Given the description of an element on the screen output the (x, y) to click on. 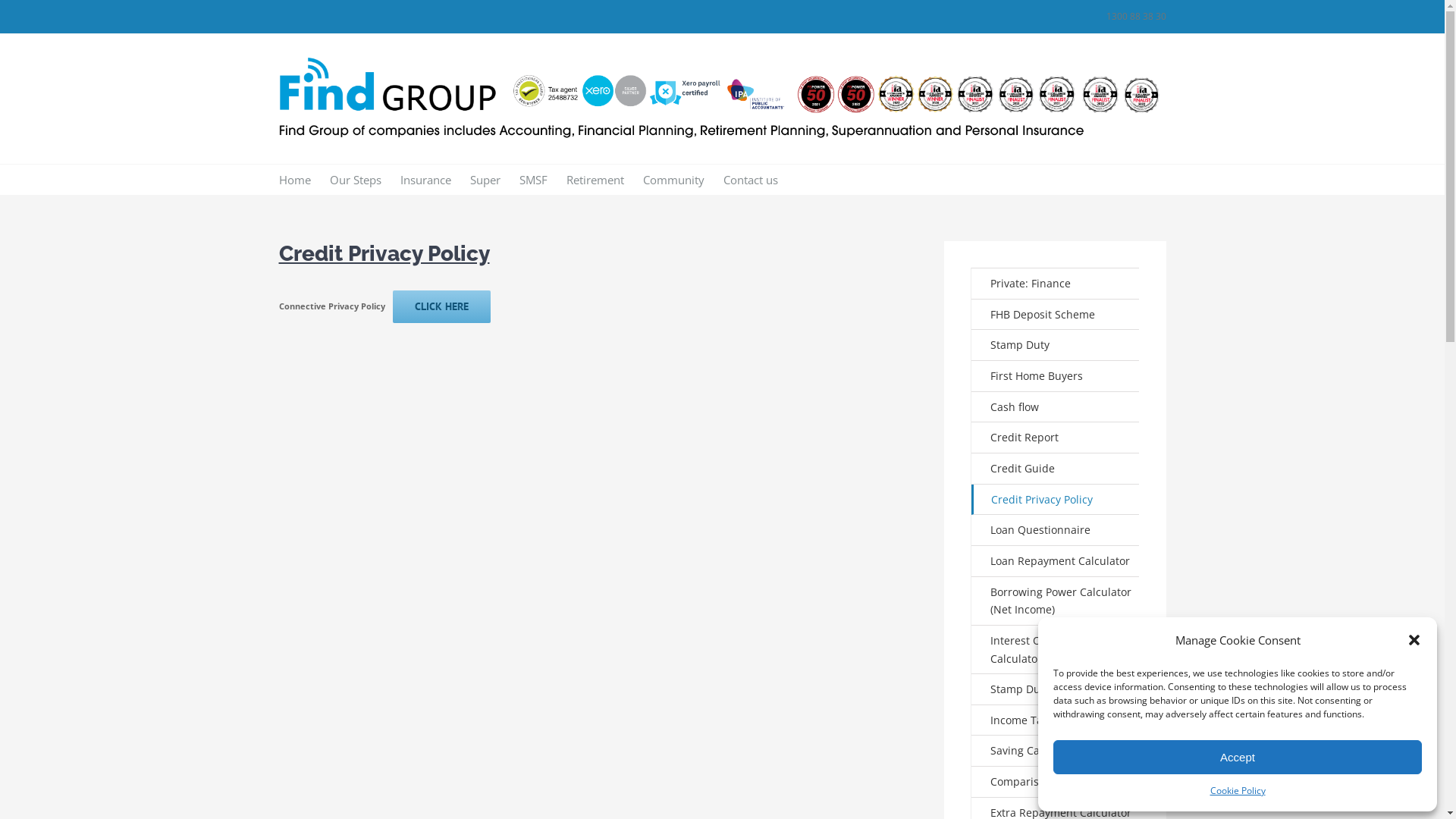
Private: Finance Element type: text (1055, 283)
Retirement Element type: text (594, 179)
Cookie Policy Element type: text (1237, 790)
First Home Buyers Element type: text (1055, 376)
Stamp Duty Element type: text (1055, 344)
Super Element type: text (485, 179)
SMSF Element type: text (532, 179)
Credit Report Element type: text (1055, 437)
Our Steps Element type: text (354, 179)
Income Tax Calculator Element type: text (1055, 720)
Loan Questionnaire Element type: text (1055, 530)
Loan Repayment Calculator Element type: text (1055, 561)
CLICK HERE Element type: text (441, 306)
Home Element type: text (294, 179)
Contact us Element type: text (750, 179)
Stamp Duty Calculator Element type: text (1055, 689)
Saving Calculator Element type: text (1055, 750)
Borrowing Power Calculator (Net Income) Element type: text (1055, 601)
Insurance Element type: text (425, 179)
Accept Element type: text (1237, 757)
Comparison Rate Calculator Element type: text (1055, 781)
Cash flow Element type: text (1055, 407)
Community Element type: text (673, 179)
FHB Deposit Scheme Element type: text (1055, 314)
Interest Only Mortgage Calculator Element type: text (1055, 649)
Credit Privacy Policy Element type: text (1055, 499)
Credit Guide Element type: text (1055, 468)
